Given the description of an element on the screen output the (x, y) to click on. 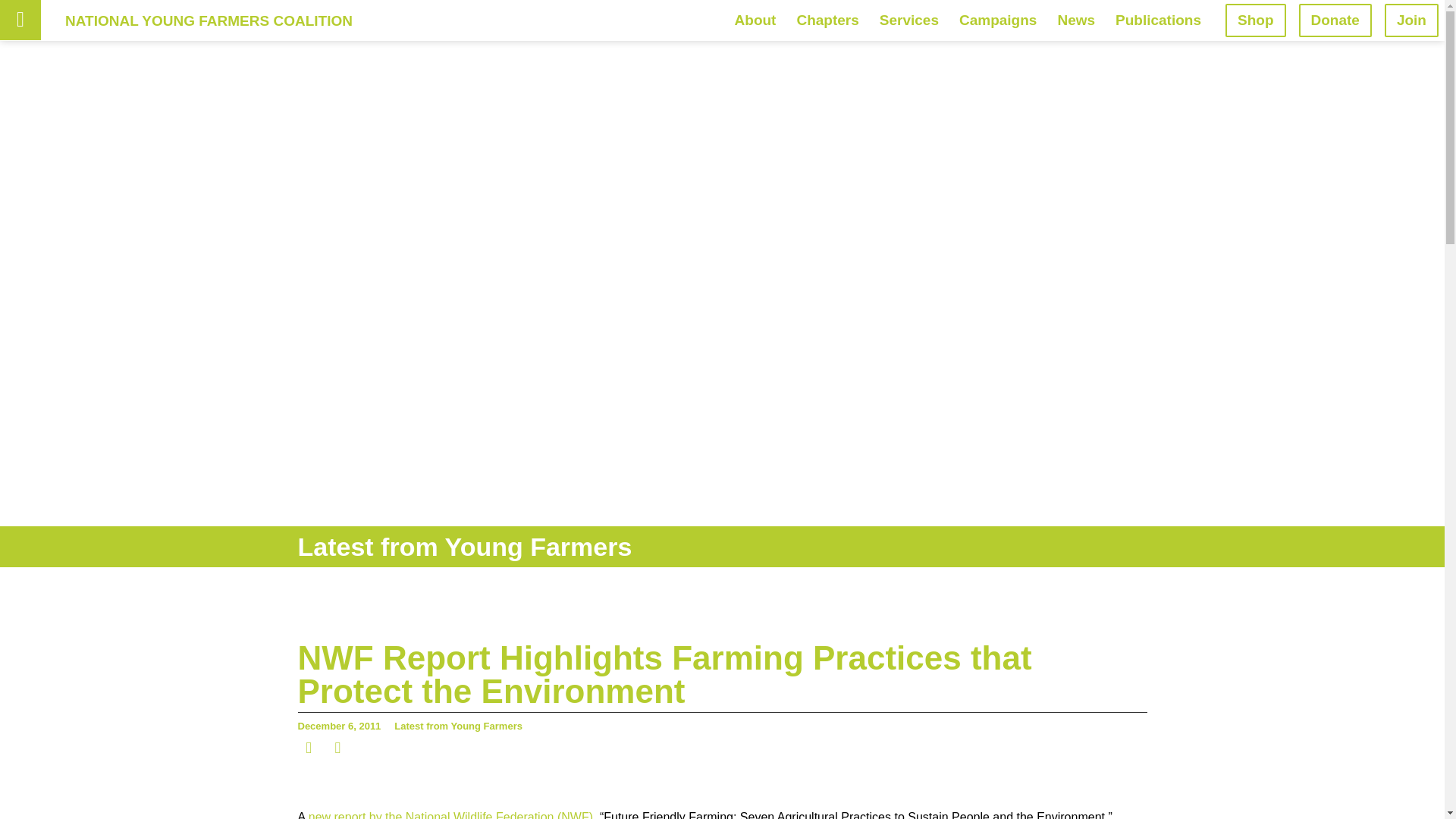
About (755, 20)
Chapters (827, 20)
Publications (1158, 20)
Donate (1334, 20)
Campaigns (997, 20)
NATIONAL YOUNG FARMERS COALITION (208, 19)
News (1075, 20)
Shop (1255, 20)
Services (909, 20)
Join (1411, 20)
